Given the description of an element on the screen output the (x, y) to click on. 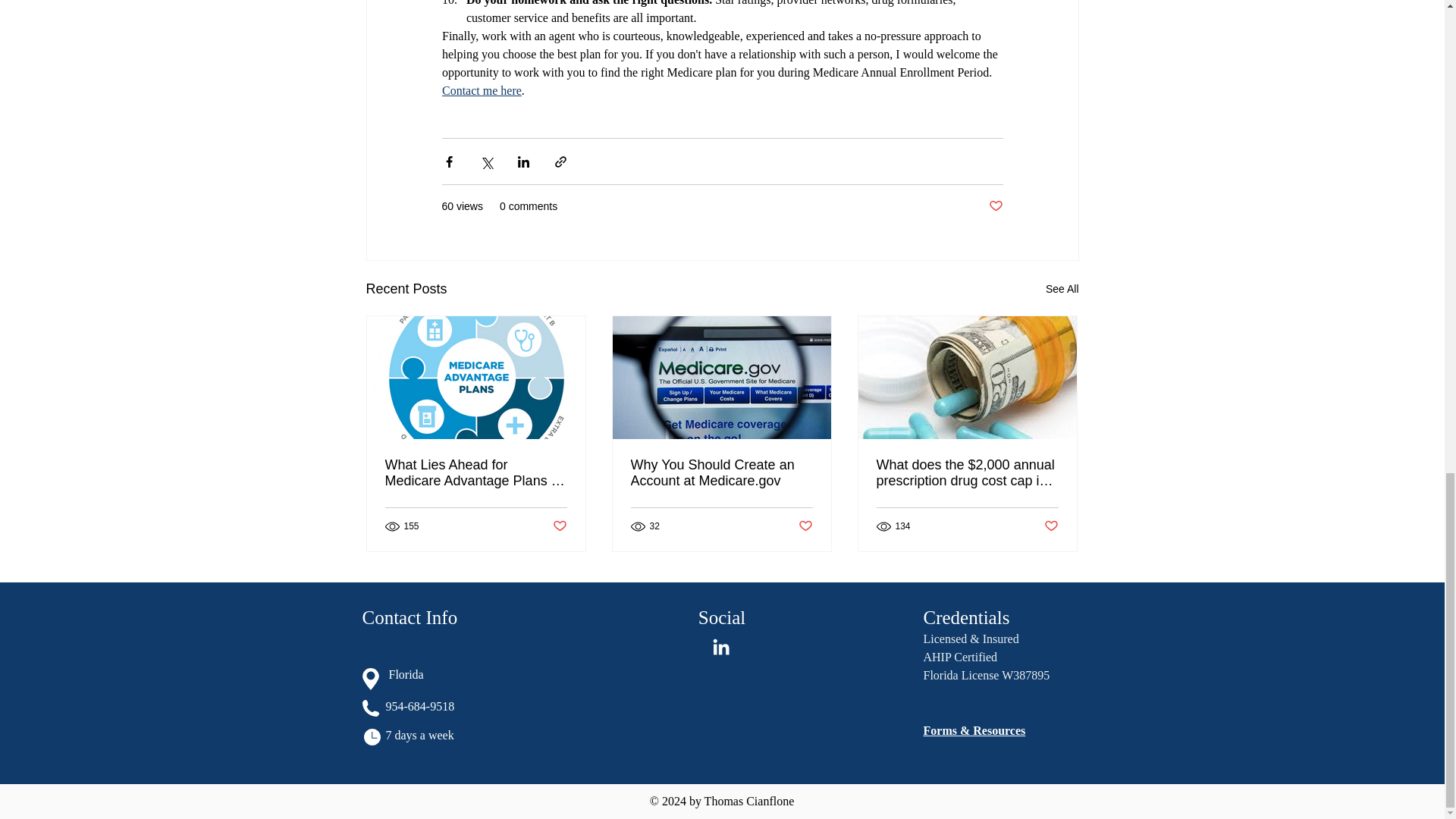
Post not marked as liked (1050, 526)
What Lies Ahead for Medicare Advantage Plans in 2025? (476, 472)
Why You Should Create an Account at Medicare.gov (721, 472)
Contact me here (481, 90)
Post not marked as liked (558, 526)
See All (1061, 289)
Post not marked as liked (804, 526)
954-684-9518 (419, 706)
Post not marked as liked (995, 206)
Thomas Cianflone (749, 800)
